Given the description of an element on the screen output the (x, y) to click on. 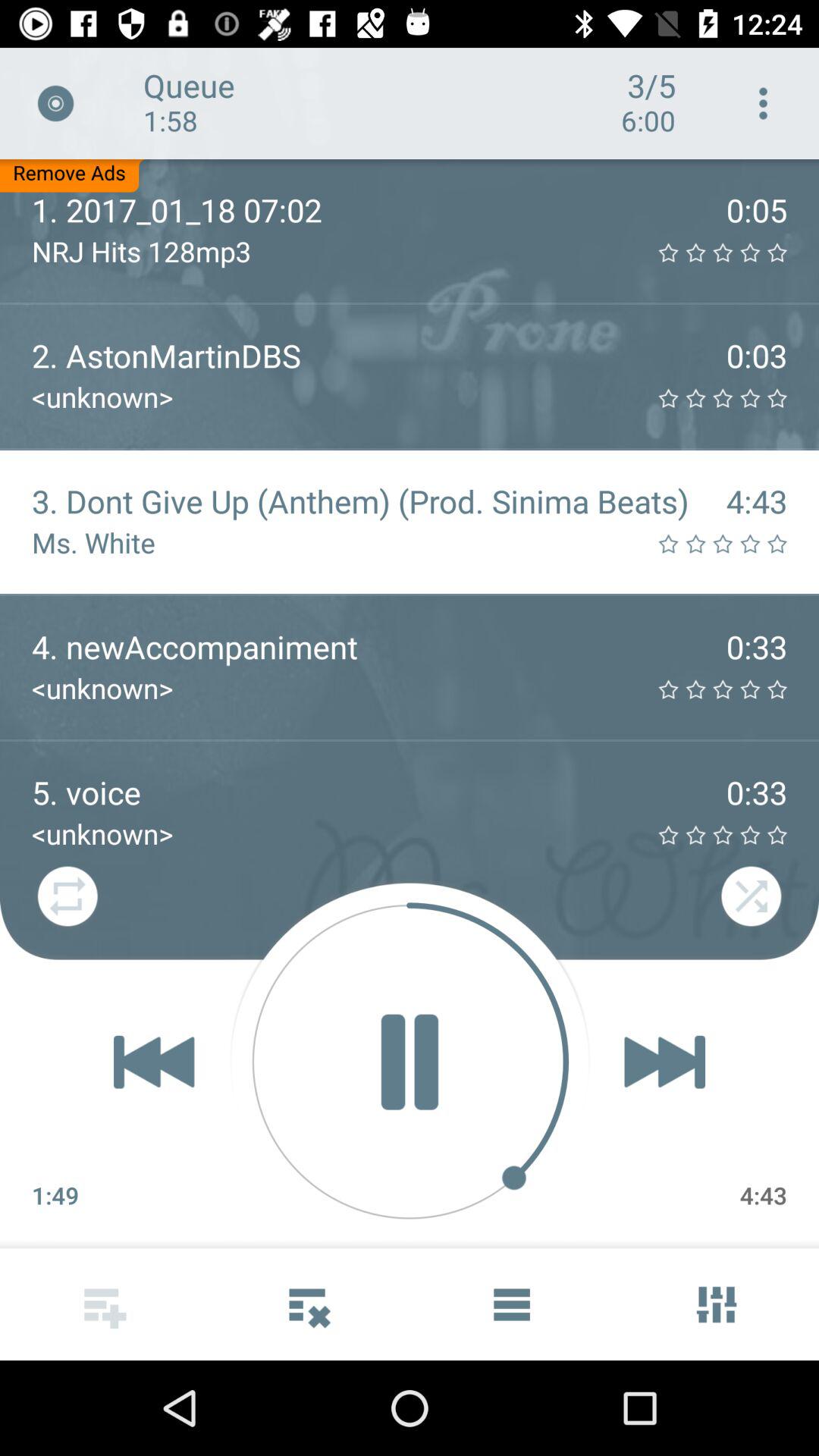
press the item below the <unknown> item (409, 1061)
